Given the description of an element on the screen output the (x, y) to click on. 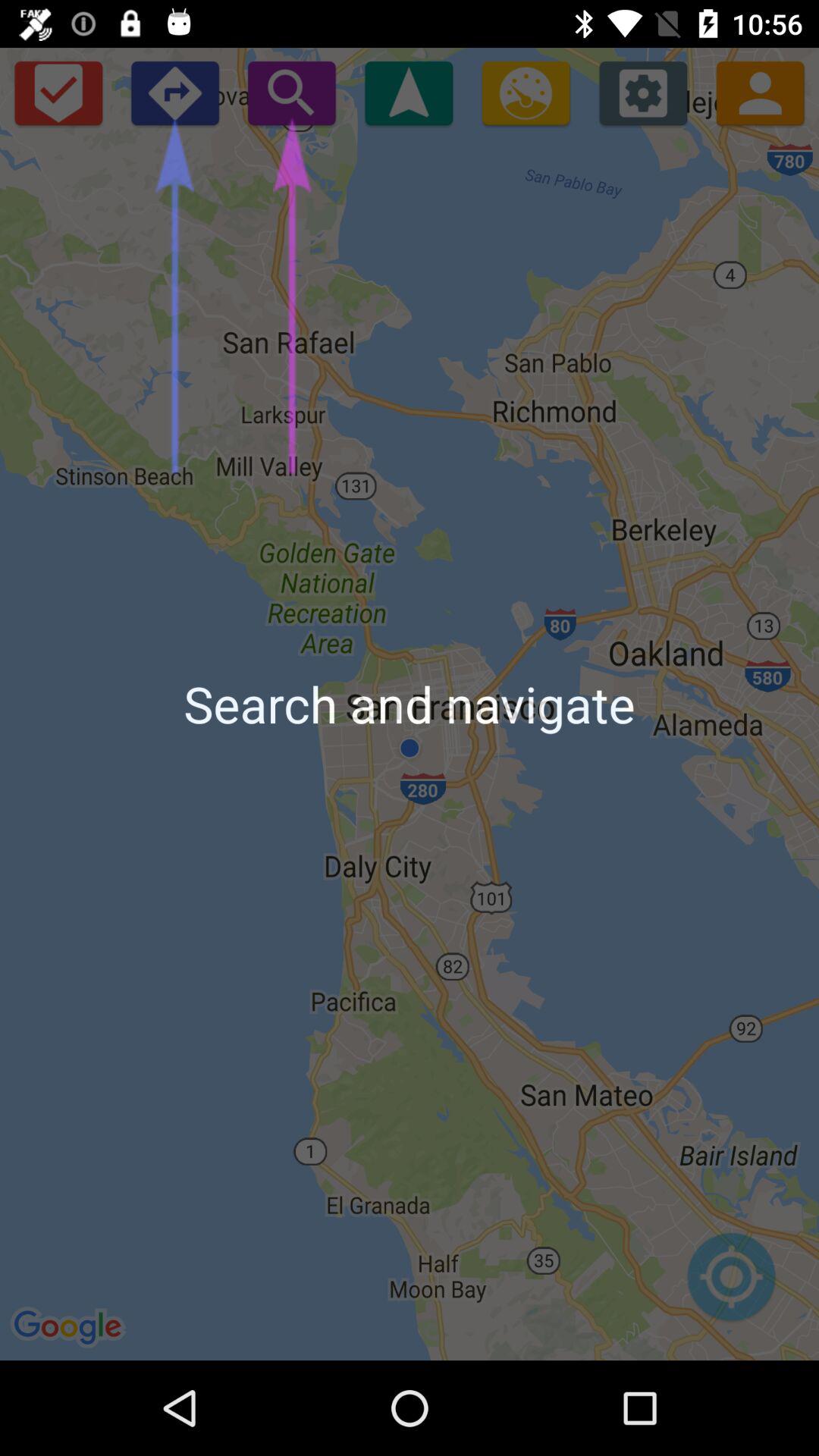
profile settings/signin (760, 92)
